Given the description of an element on the screen output the (x, y) to click on. 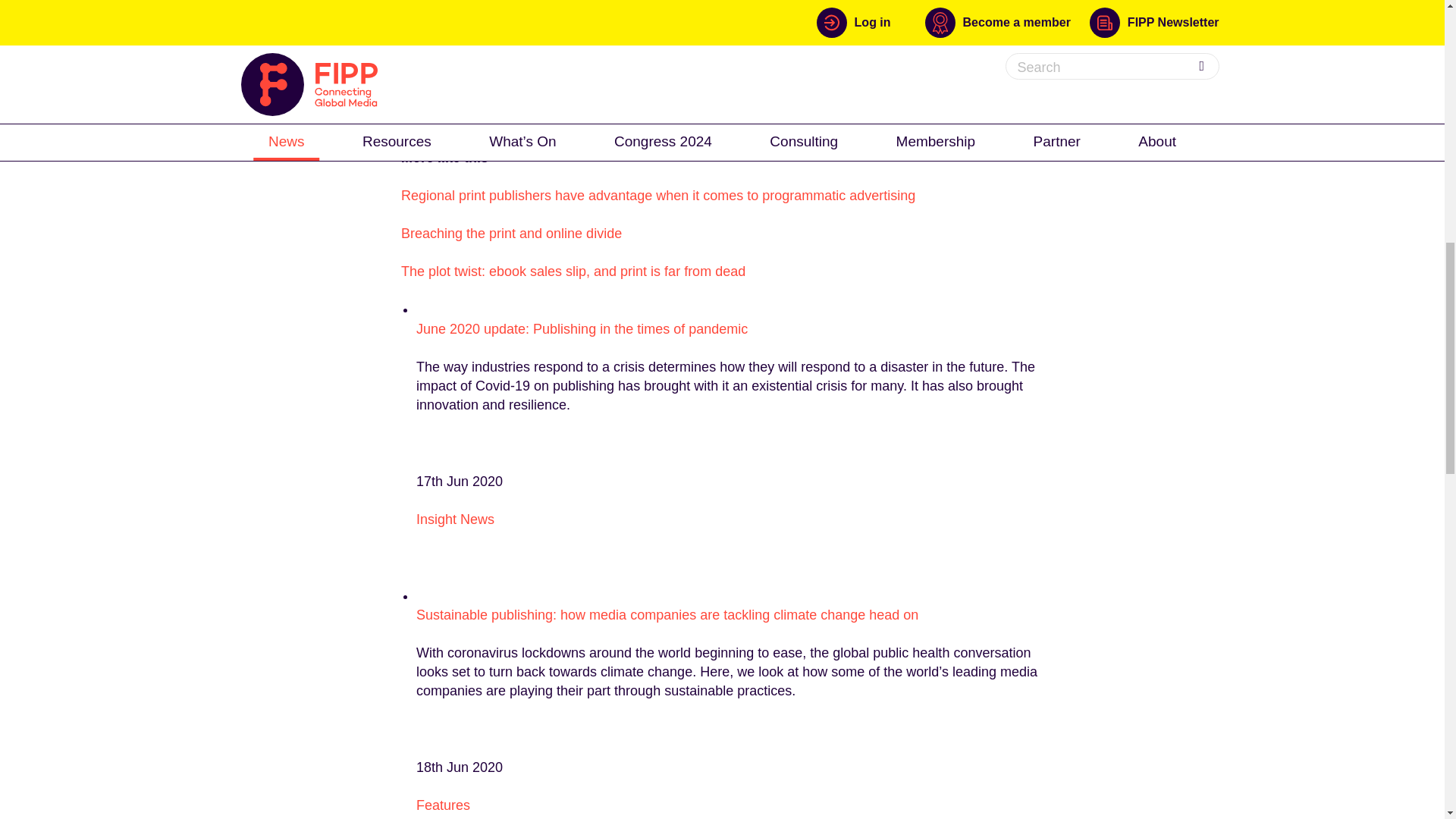
Features (443, 805)
The plot twist: ebook sales slip, and print is far from dead (573, 271)
Insight News (455, 519)
here (539, 80)
Breaching the print and online divide (511, 233)
June 2020 update: Publishing in the times of pandemic (582, 328)
Source: foliomag.com (466, 118)
